Given the description of an element on the screen output the (x, y) to click on. 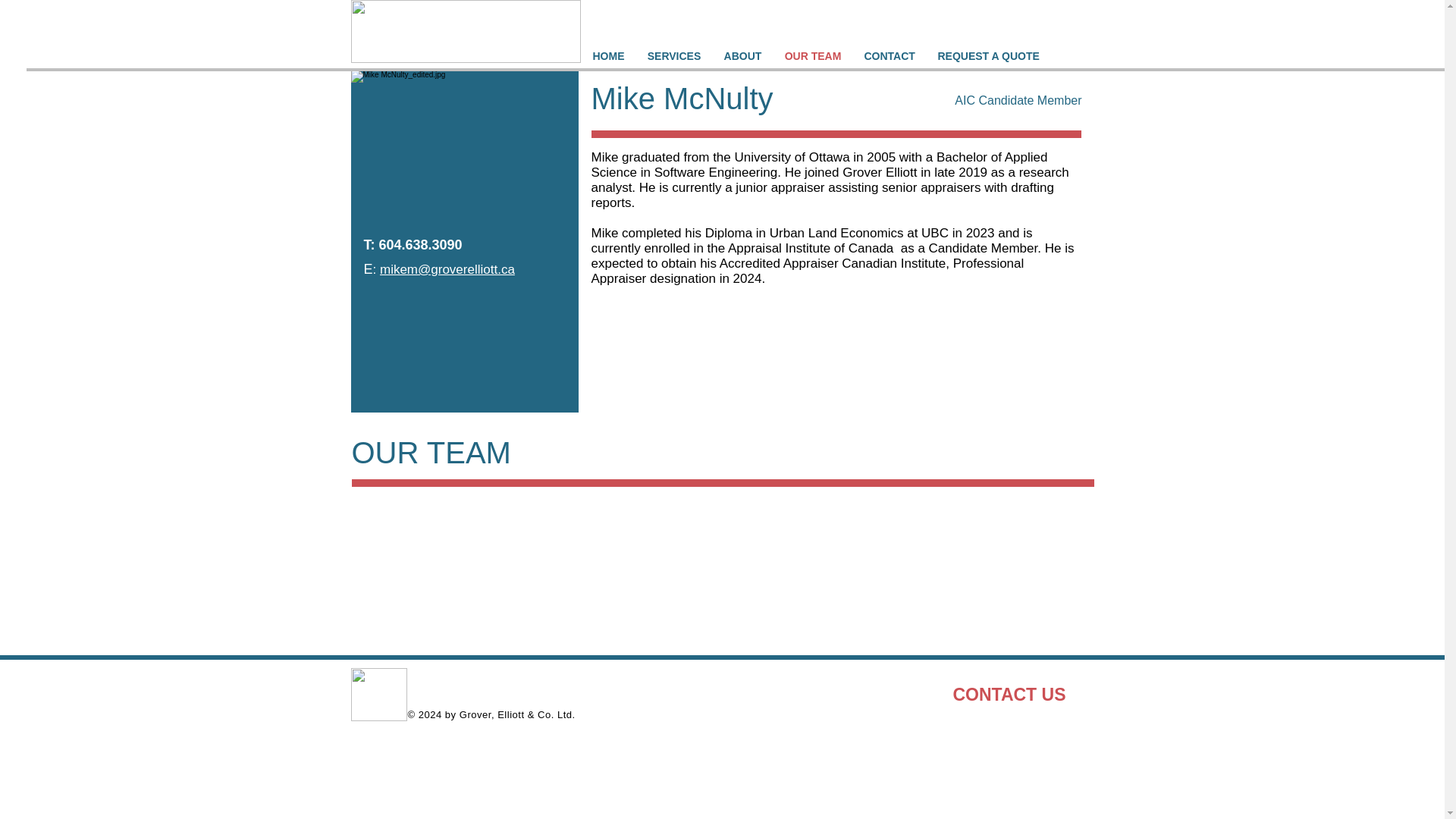
E: (372, 268)
CONTACT (888, 56)
REQUEST A QUOTE (988, 56)
OUR TEAM (813, 56)
GroverElliott-8 copy.jpg (464, 148)
HOME (607, 56)
ABOUT (743, 56)
SERVICES (672, 56)
